Given the description of an element on the screen output the (x, y) to click on. 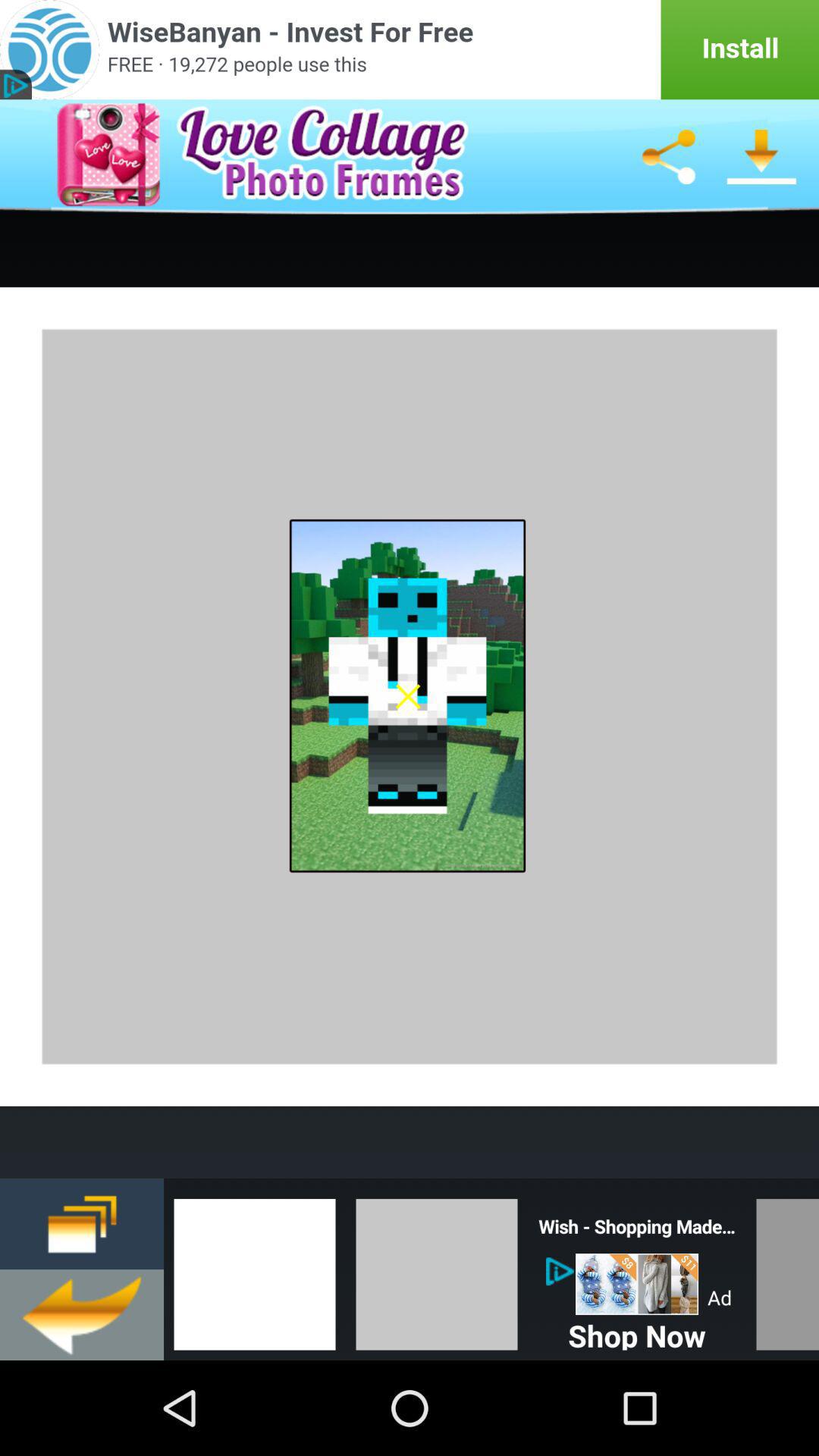
advertising (636, 1283)
